Given the description of an element on the screen output the (x, y) to click on. 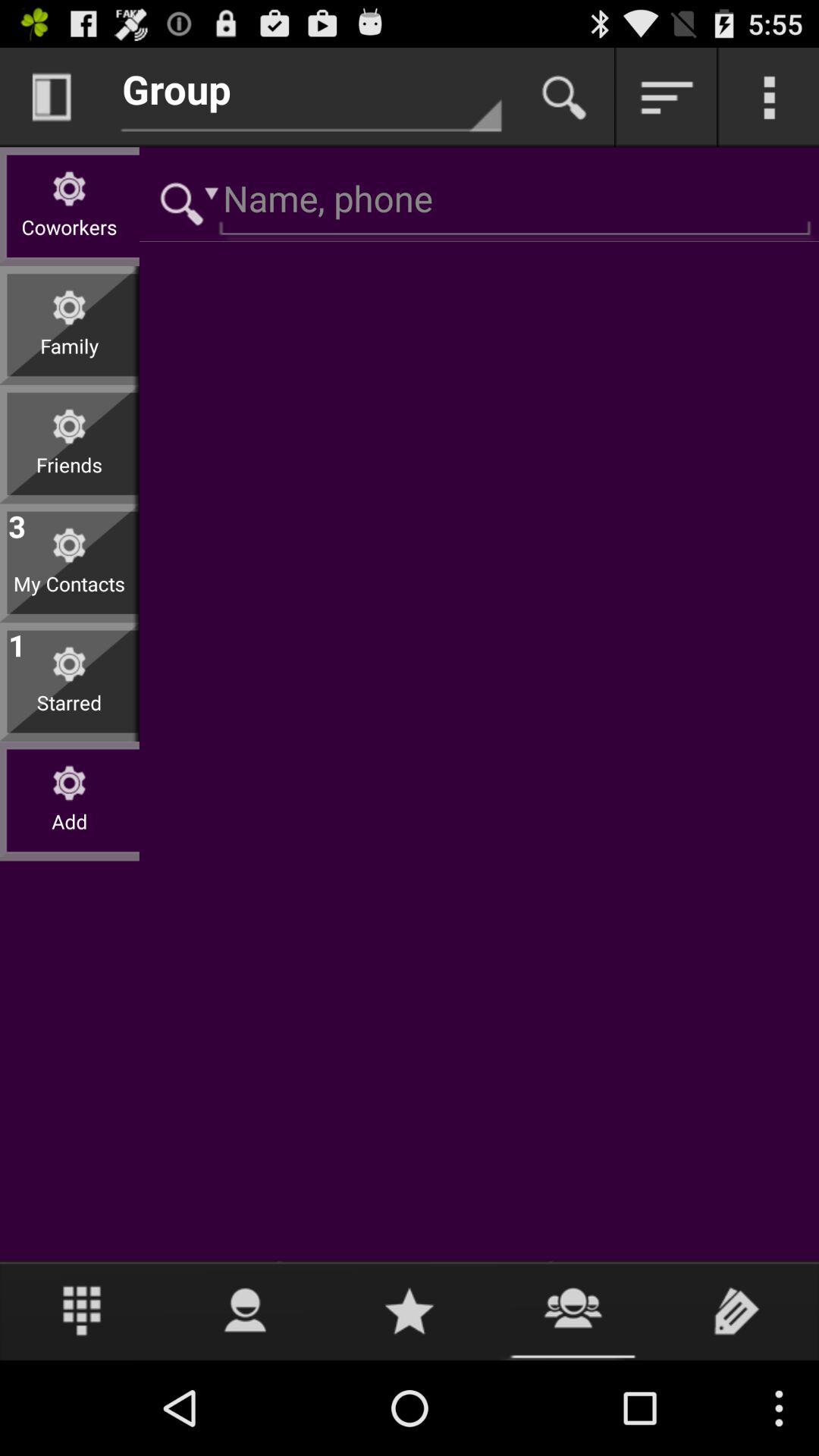
click the family icon (69, 357)
